Given the description of an element on the screen output the (x, y) to click on. 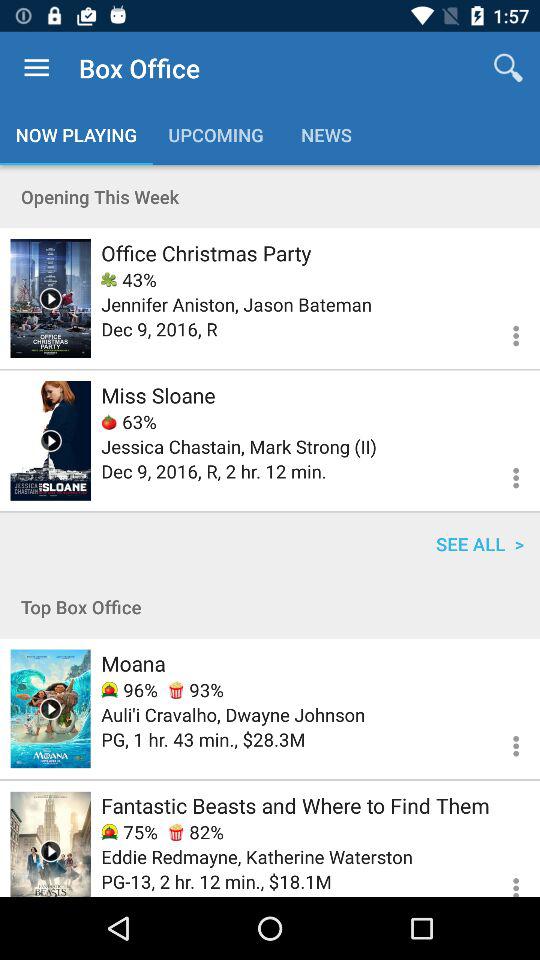
tap the item below 96% (233, 714)
